Given the description of an element on the screen output the (x, y) to click on. 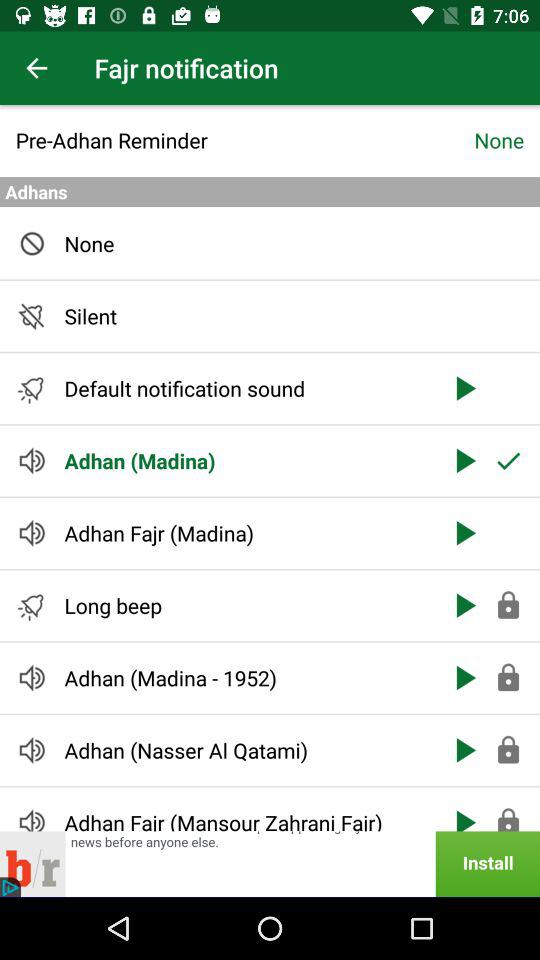
tap adhans (270, 192)
